Given the description of an element on the screen output the (x, y) to click on. 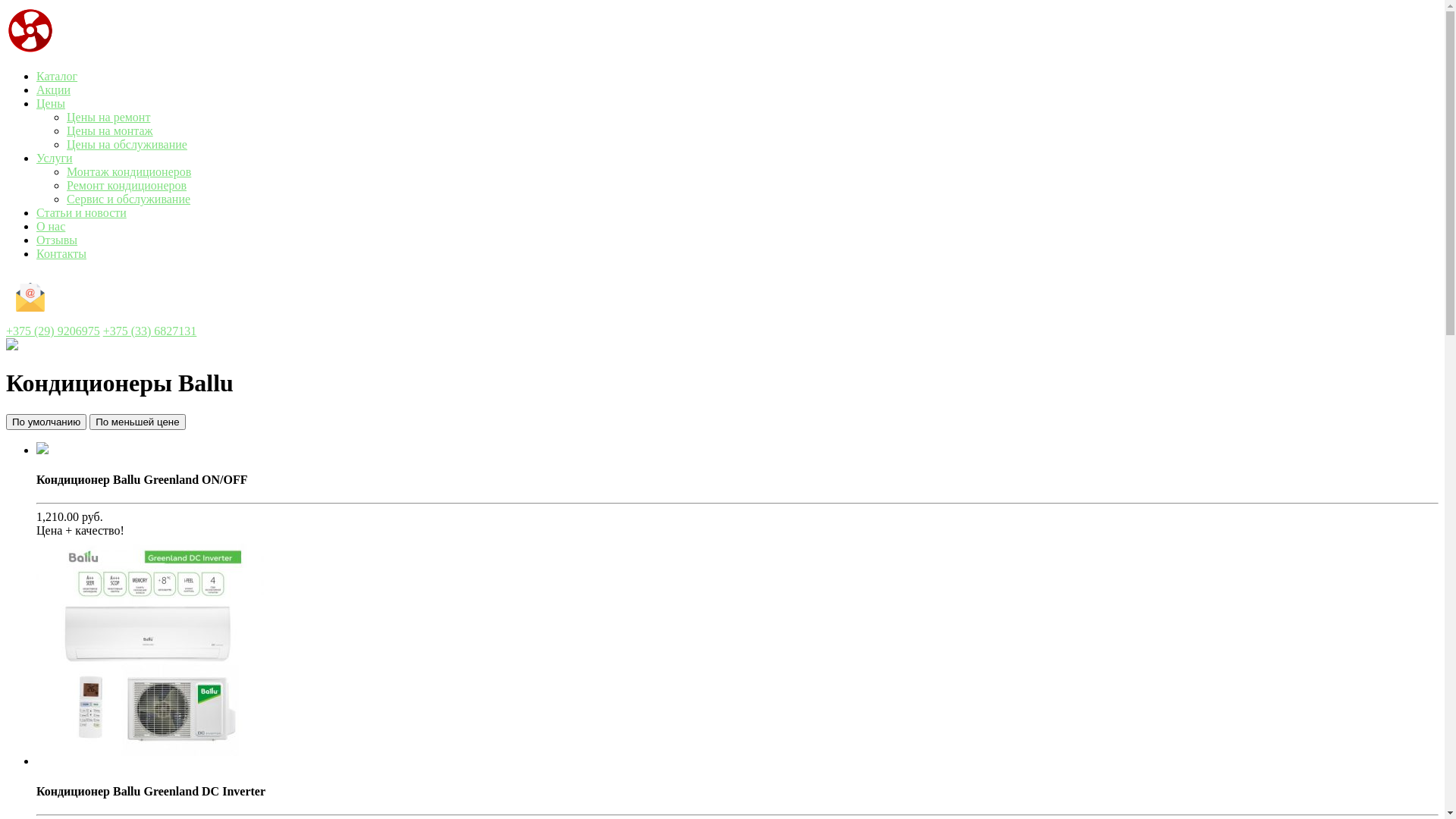
+375 (29) 9206975 Element type: text (53, 330)
+375 (33) 6827131 Element type: text (150, 330)
